Given the description of an element on the screen output the (x, y) to click on. 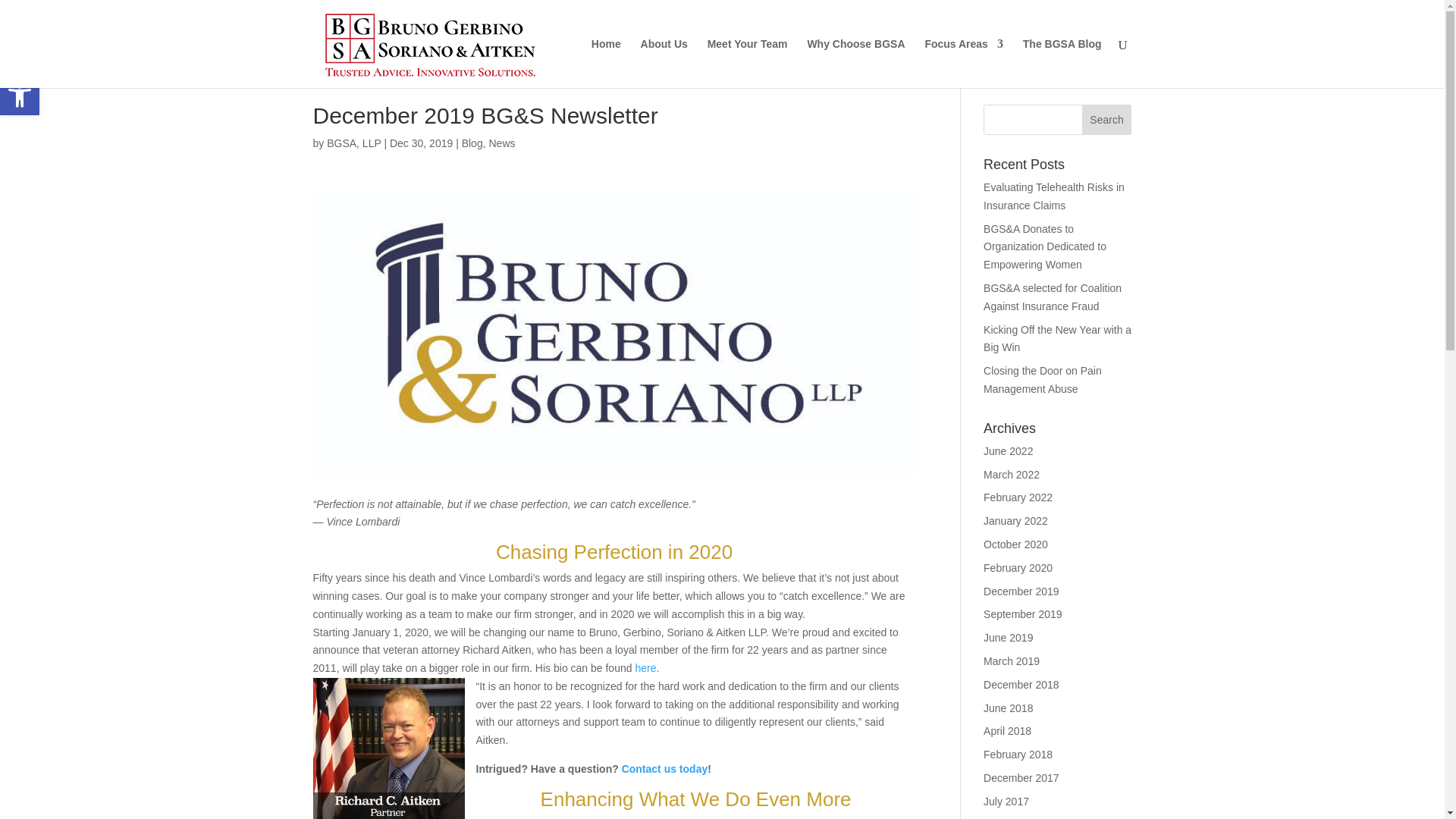
The BGSA Blog (1062, 62)
Meet Your Team (747, 62)
Blog (472, 143)
About Us (19, 95)
News (663, 62)
BGSA, LLP (501, 143)
Search (353, 143)
Posts by BGSA, LLP (1106, 119)
Why Choose BGSA (353, 143)
